Given the description of an element on the screen output the (x, y) to click on. 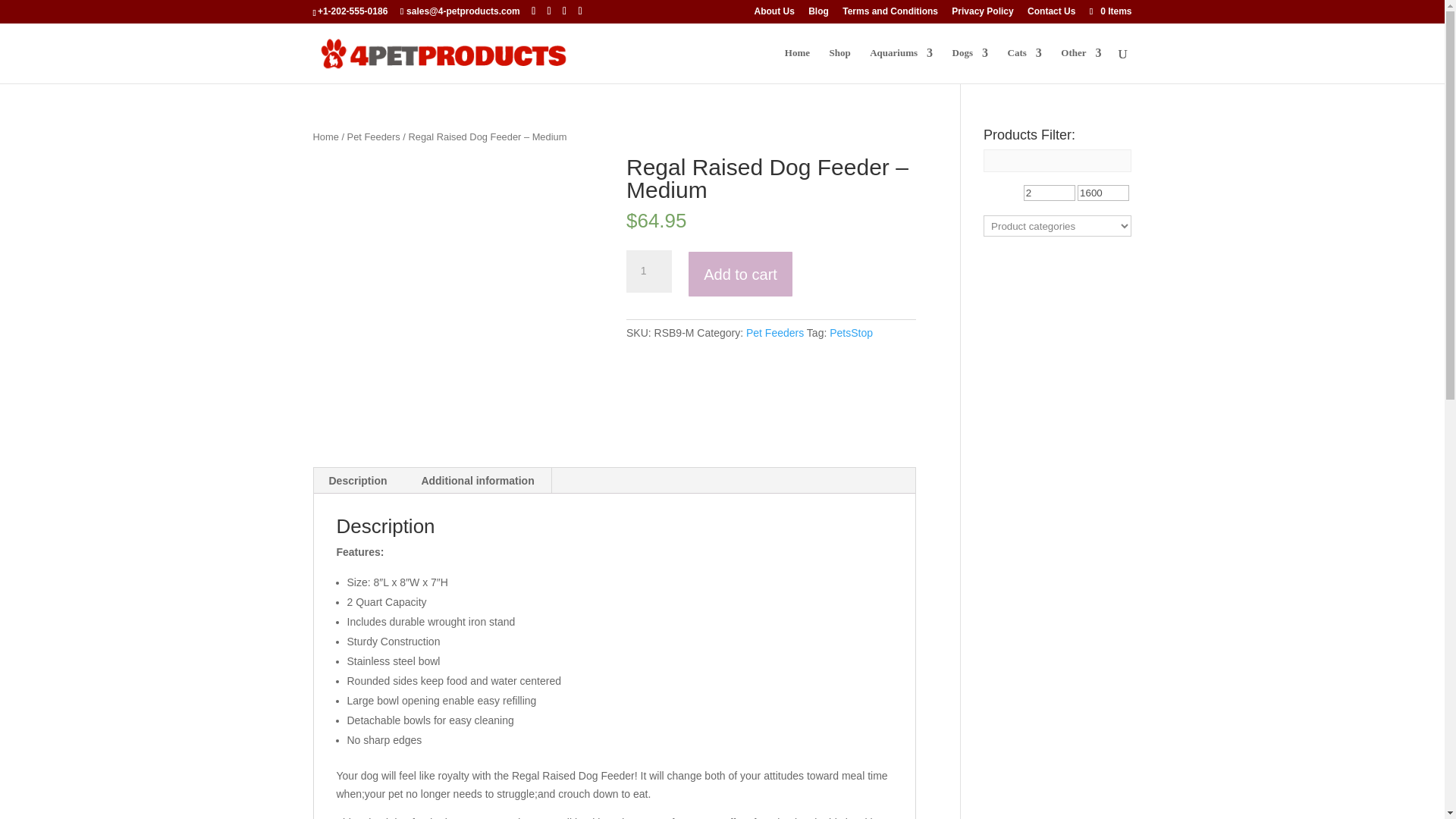
About Us (773, 14)
Privacy Policy (982, 14)
Aquariums (901, 65)
1600 (1103, 192)
0 Items (1108, 10)
Cats (1024, 65)
Terms and Conditions (890, 14)
Dogs (970, 65)
2 (1049, 192)
Contact Us (1051, 14)
1 (648, 271)
Blog (818, 14)
